Given the description of an element on the screen output the (x, y) to click on. 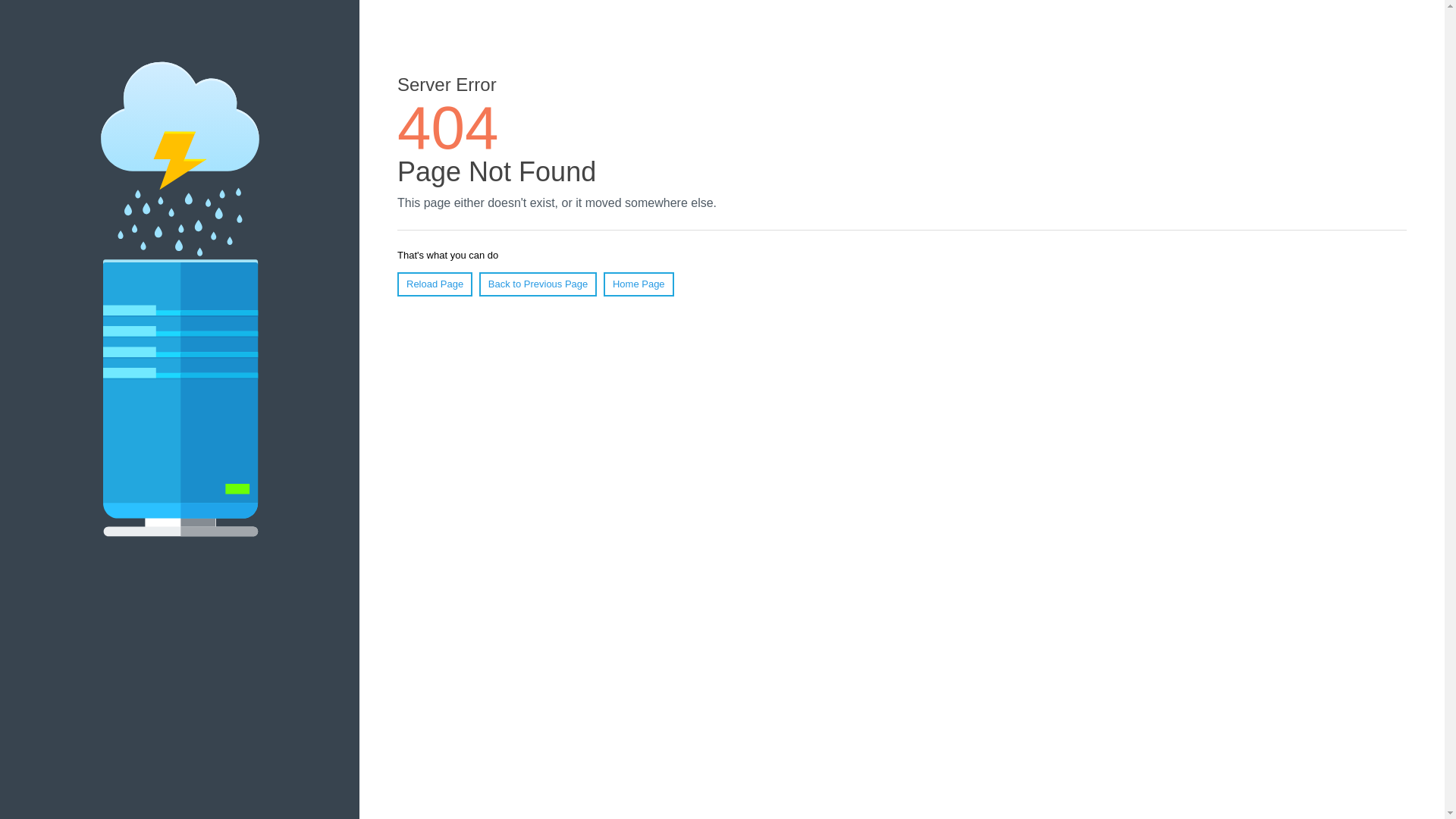
Back to Previous Page Element type: text (538, 284)
Reload Page Element type: text (434, 284)
Home Page Element type: text (638, 284)
